Given the description of an element on the screen output the (x, y) to click on. 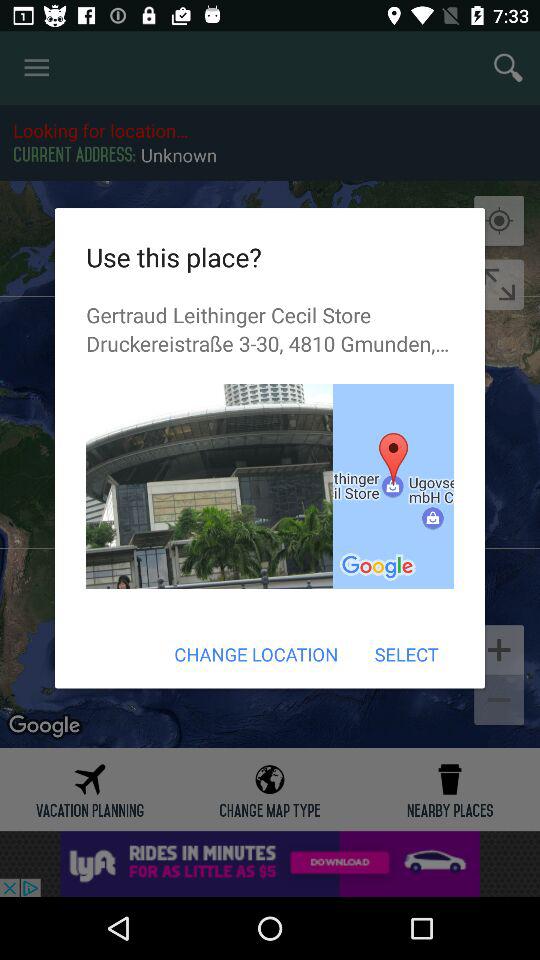
turn off the icon above change location item (393, 486)
